Given the description of an element on the screen output the (x, y) to click on. 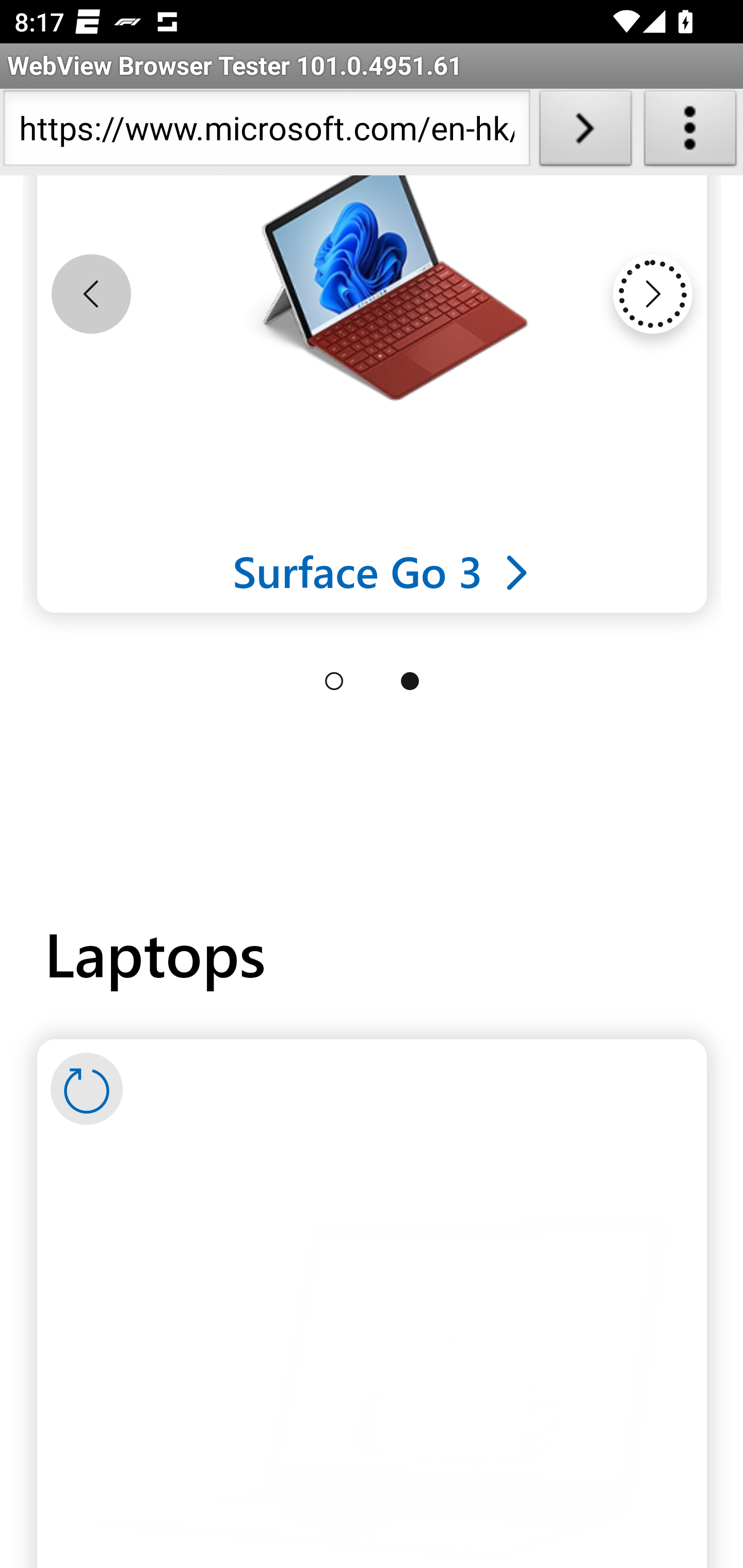
Load URL (585, 132)
About WebView (690, 132)
Previous slide (90, 294)
Next slide (652, 294)
Surface Go 3 information and details Surface Go 3 (381, 571)
Replay video (87, 1090)
